Given the description of an element on the screen output the (x, y) to click on. 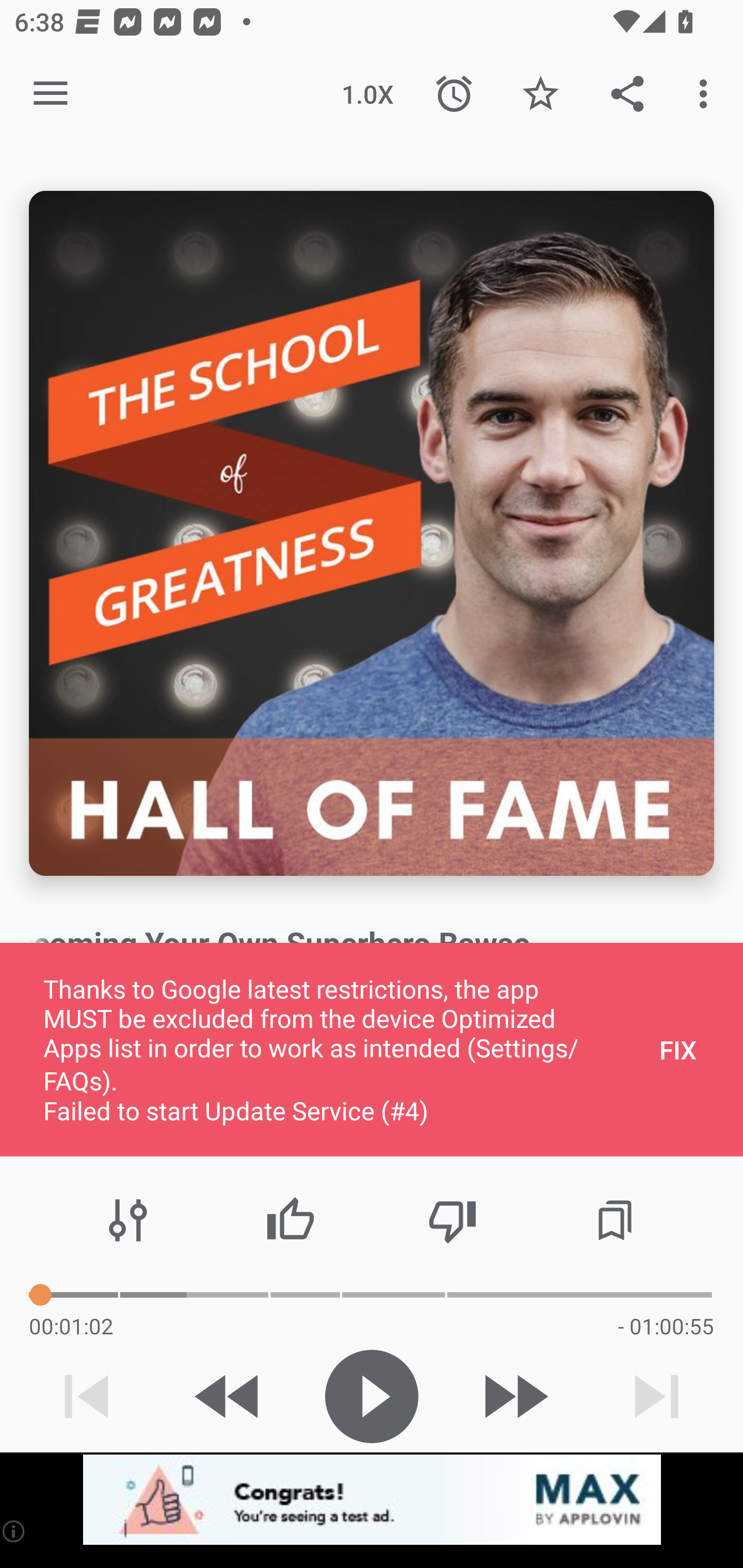
Open navigation sidebar (50, 93)
1.0X (366, 93)
Sleep Timer (453, 93)
Favorite (540, 93)
Share (626, 93)
More options (706, 93)
Episode description (371, 533)
FIX (677, 1049)
Audio effects (127, 1220)
Thumbs up (290, 1220)
Thumbs down (452, 1220)
Chapters / Bookmarks (614, 1220)
- 01:00:55 (666, 1325)
Previous track (86, 1395)
Skip 15s backward (228, 1395)
Play / Pause (371, 1395)
Skip 30s forward (513, 1395)
Next track (656, 1395)
app-monetization (371, 1500)
(i) (14, 1531)
